Given the description of an element on the screen output the (x, y) to click on. 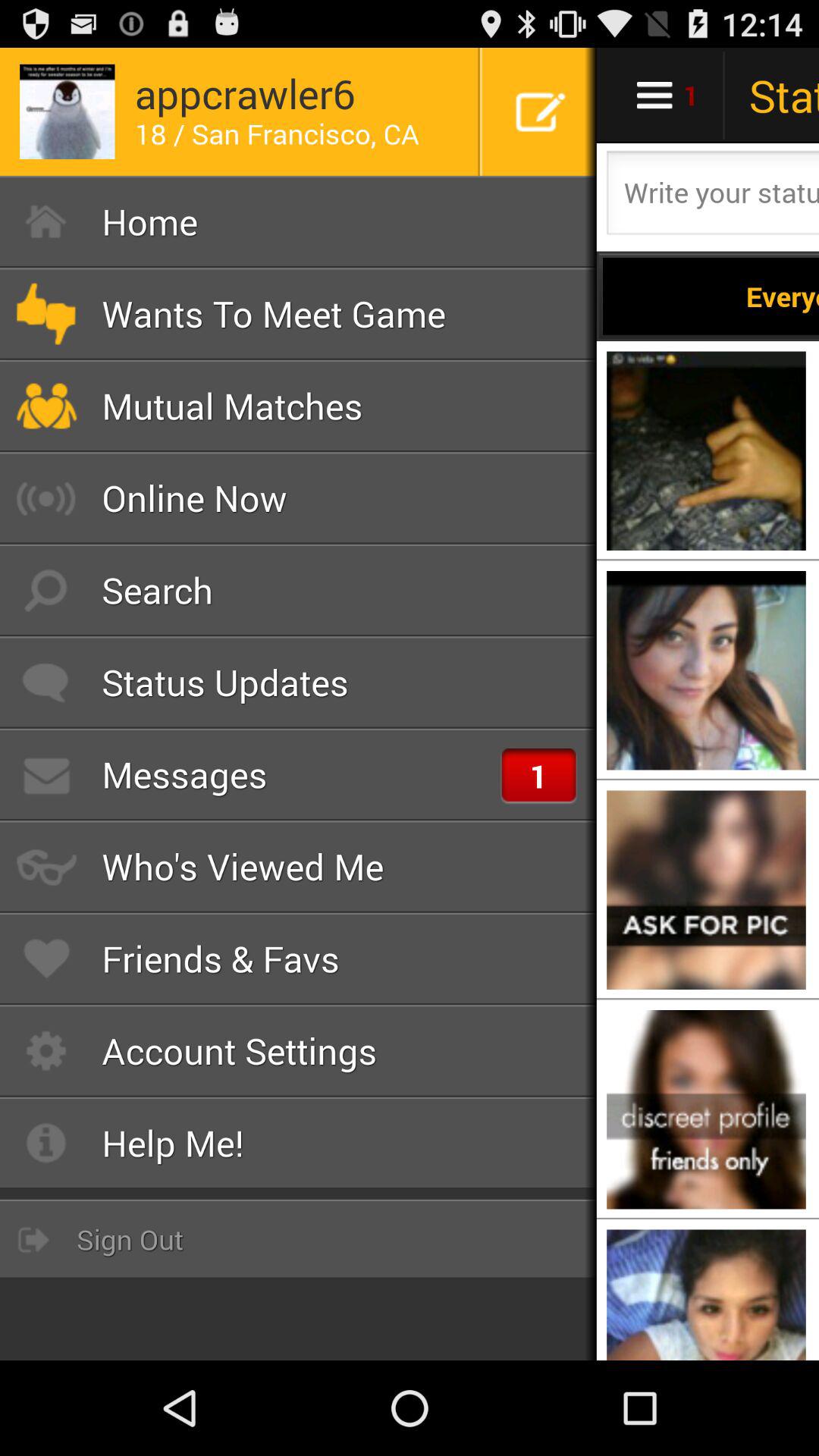
choose everyone (710, 295)
